Given the description of an element on the screen output the (x, y) to click on. 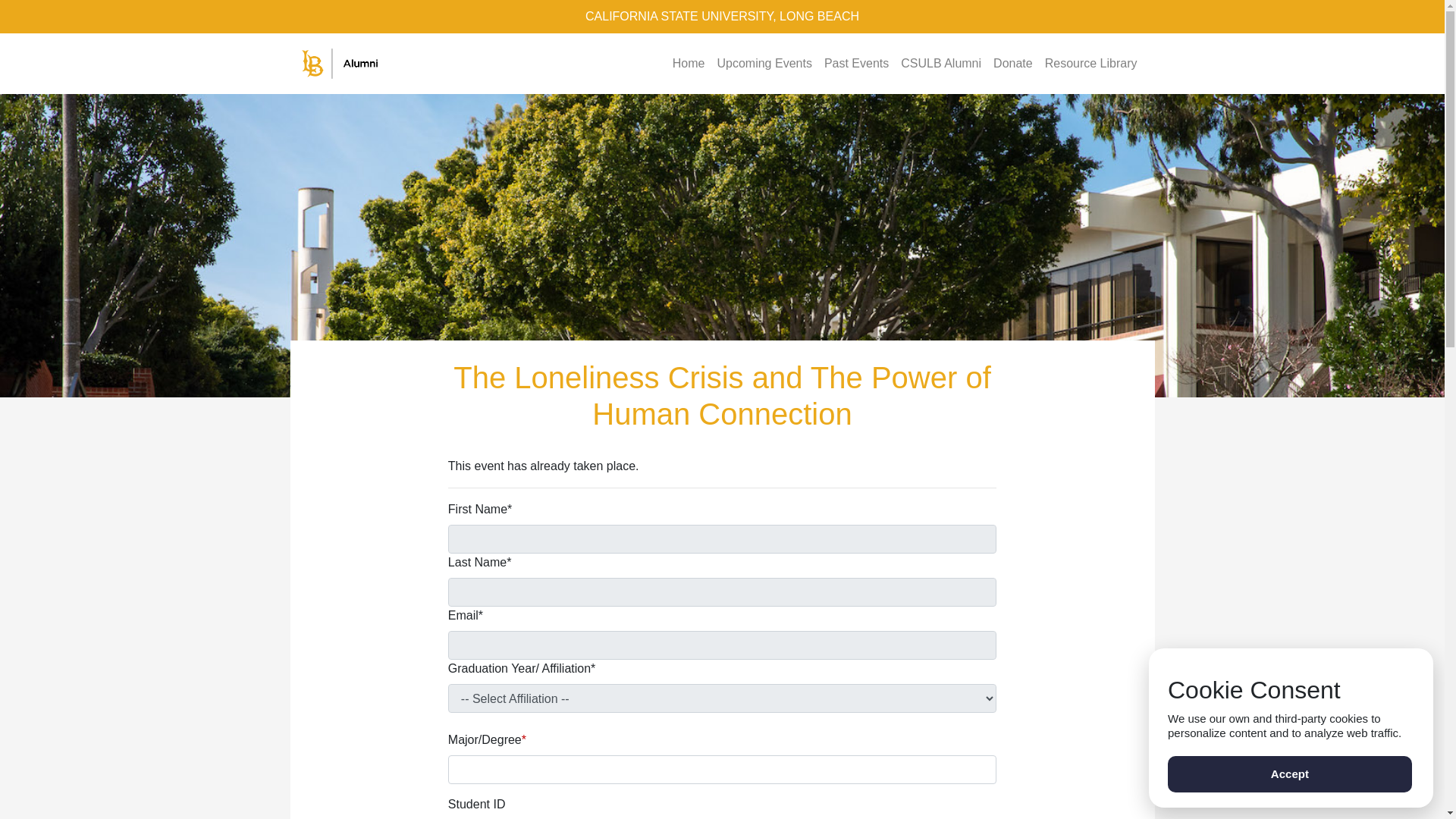
Past Events (856, 63)
Resource Library (1090, 63)
CSULB Alumni (941, 63)
Accept (1289, 773)
Donate (1013, 63)
Upcoming Events (763, 63)
